Given the description of an element on the screen output the (x, y) to click on. 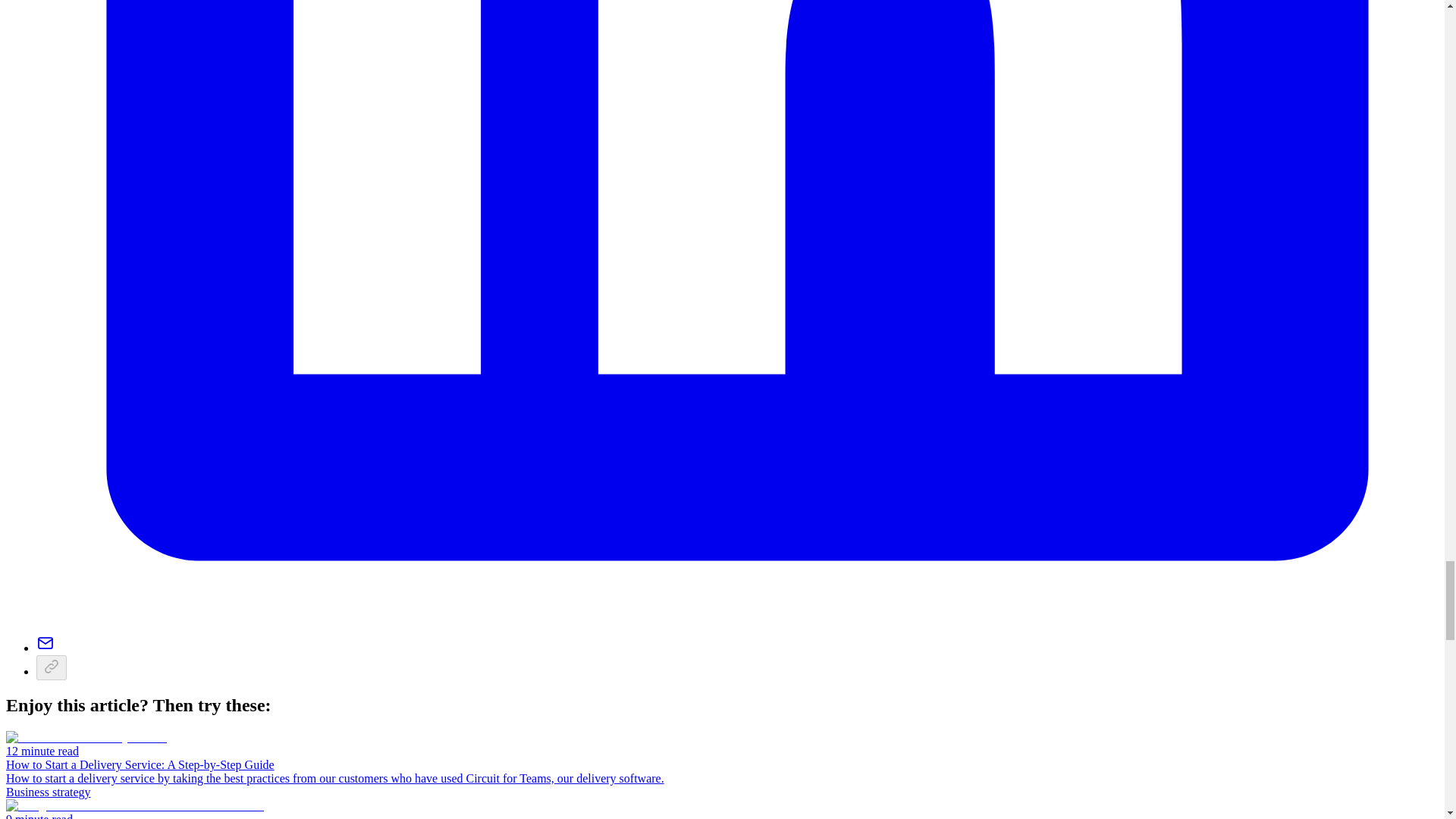
Click to copy (51, 667)
